Given the description of an element on the screen output the (x, y) to click on. 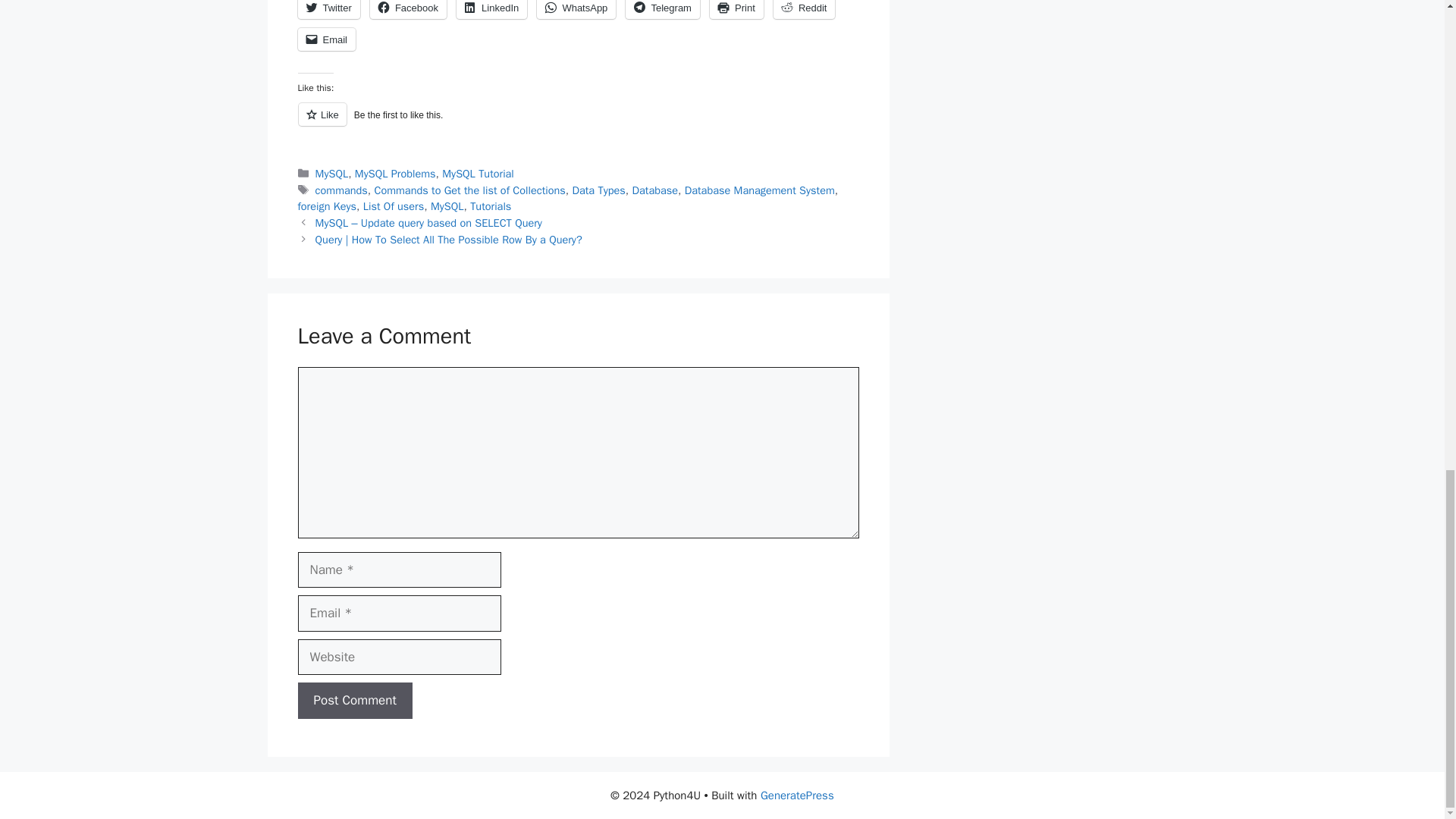
Email (326, 38)
Click to share on WhatsApp (576, 9)
MySQL Tutorial (477, 173)
LinkedIn (492, 9)
Click to share on Twitter (328, 9)
Reddit (804, 9)
Facebook (407, 9)
Twitter (328, 9)
Click to share on Telegram (662, 9)
Click to email a link to a friend (326, 38)
Telegram (662, 9)
Post Comment (354, 700)
Click to share on Facebook (407, 9)
Click to print (736, 9)
WhatsApp (576, 9)
